Given the description of an element on the screen output the (x, y) to click on. 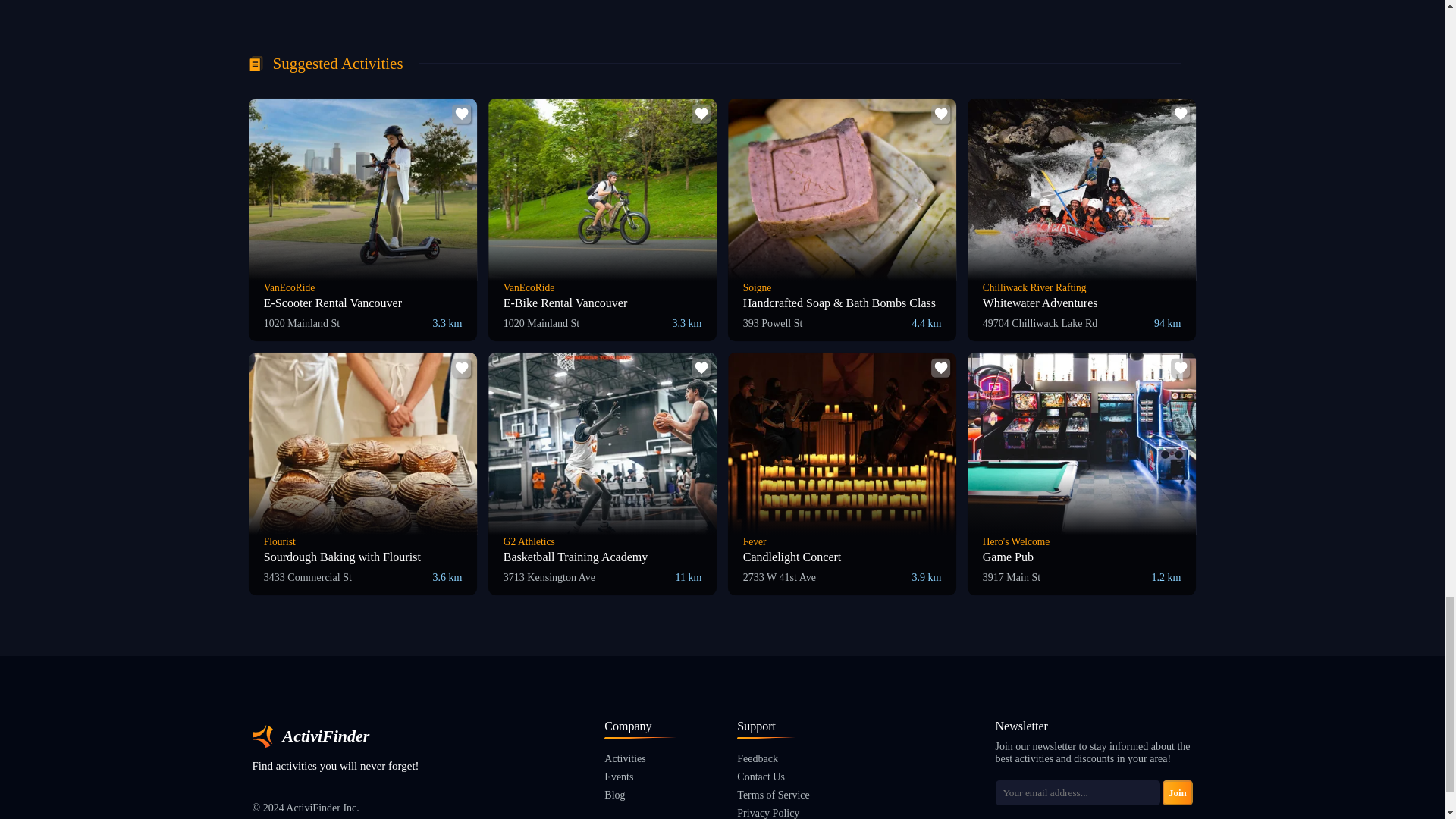
Feedback (772, 758)
Blog (640, 795)
Terms of Service (772, 795)
ActiviFinder (335, 735)
Privacy Policy (772, 813)
Activities (640, 758)
Join (1176, 792)
Events (640, 776)
